Given the description of an element on the screen output the (x, y) to click on. 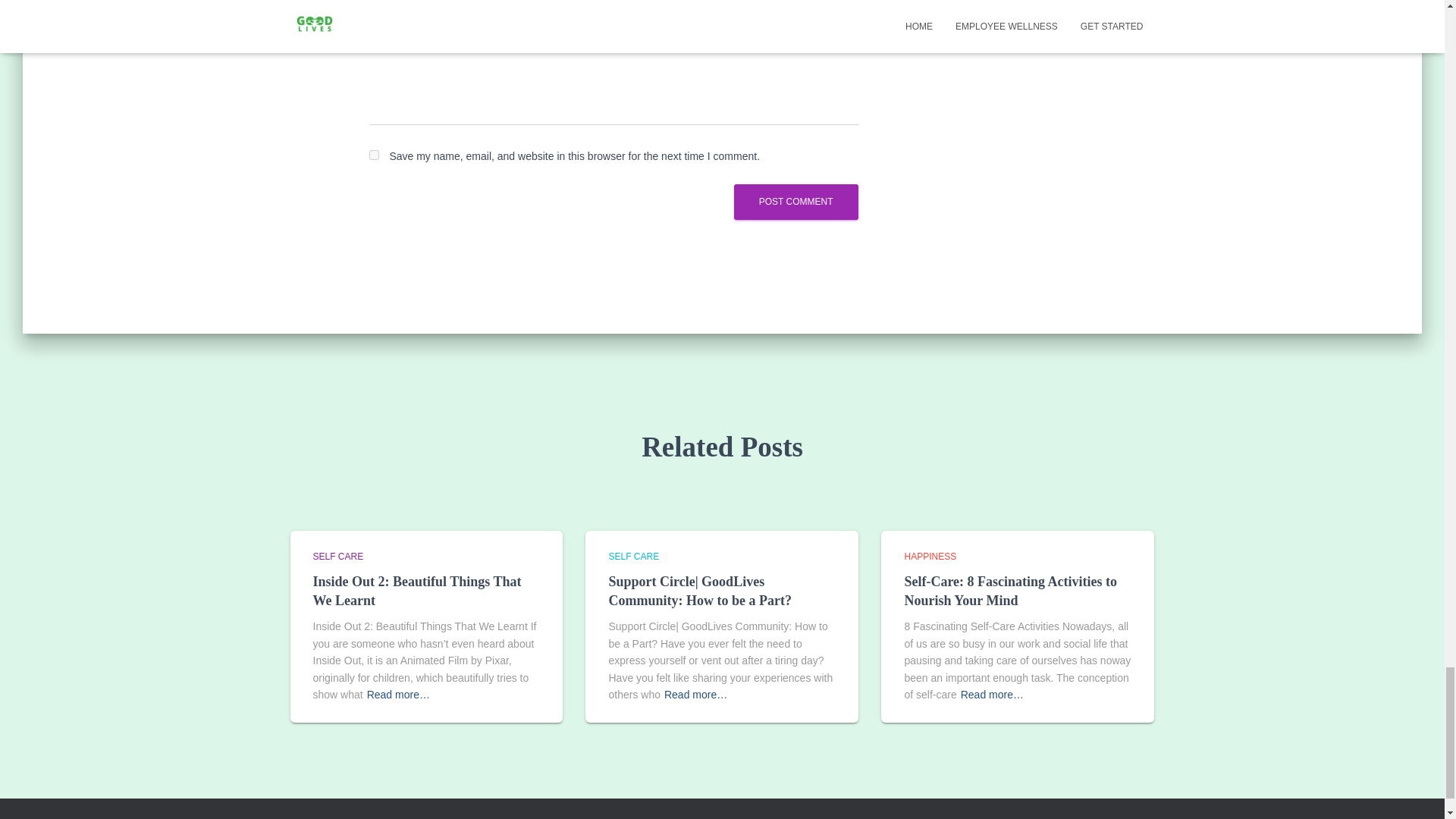
Inside Out 2: Beautiful Things That We Learnt (417, 591)
SELF CARE (633, 556)
Self-Care: 8 Fascinating Activities to Nourish Your Mind (1010, 591)
View all posts in Self Care (337, 556)
SELF CARE (337, 556)
View all posts in Self Care (633, 556)
Post Comment (796, 202)
Inside Out 2: Beautiful Things That We Learnt (417, 591)
Post Comment (796, 202)
View all posts in happiness (930, 556)
